Given the description of an element on the screen output the (x, y) to click on. 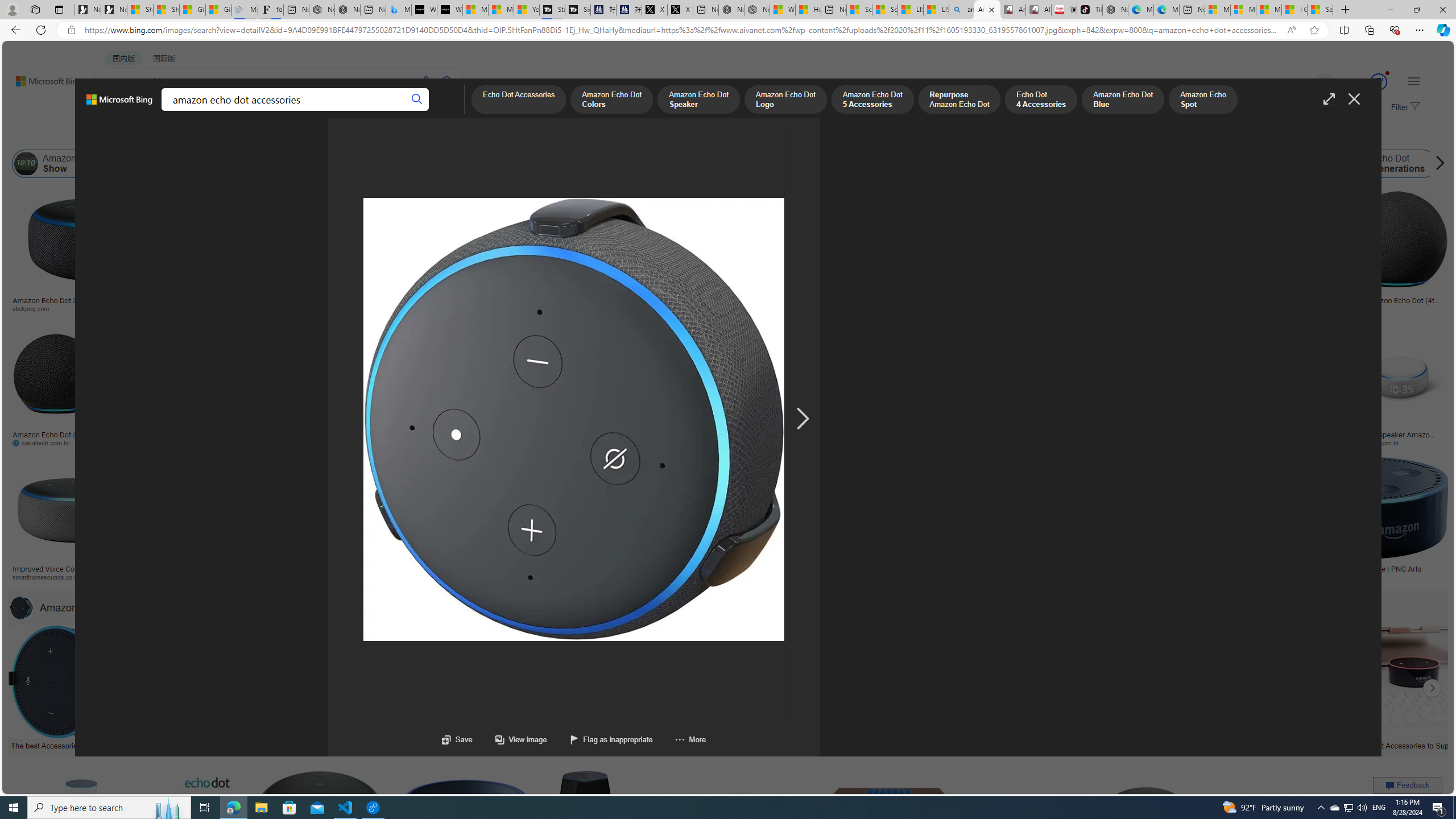
Echo Dot Accessories (226, 163)
pixabay.com (1168, 308)
MORE (443, 111)
Newsletter Sign Up (114, 9)
IMAGES (156, 112)
Amazonecho Dot With Alexa (Gen 4)pnghq.comSave (1205, 521)
Amazon Echo 2nd Generation (608, 163)
stickpng.com (653, 308)
Amazon.com: echo dot accessories (1245, 744)
